Given the description of an element on the screen output the (x, y) to click on. 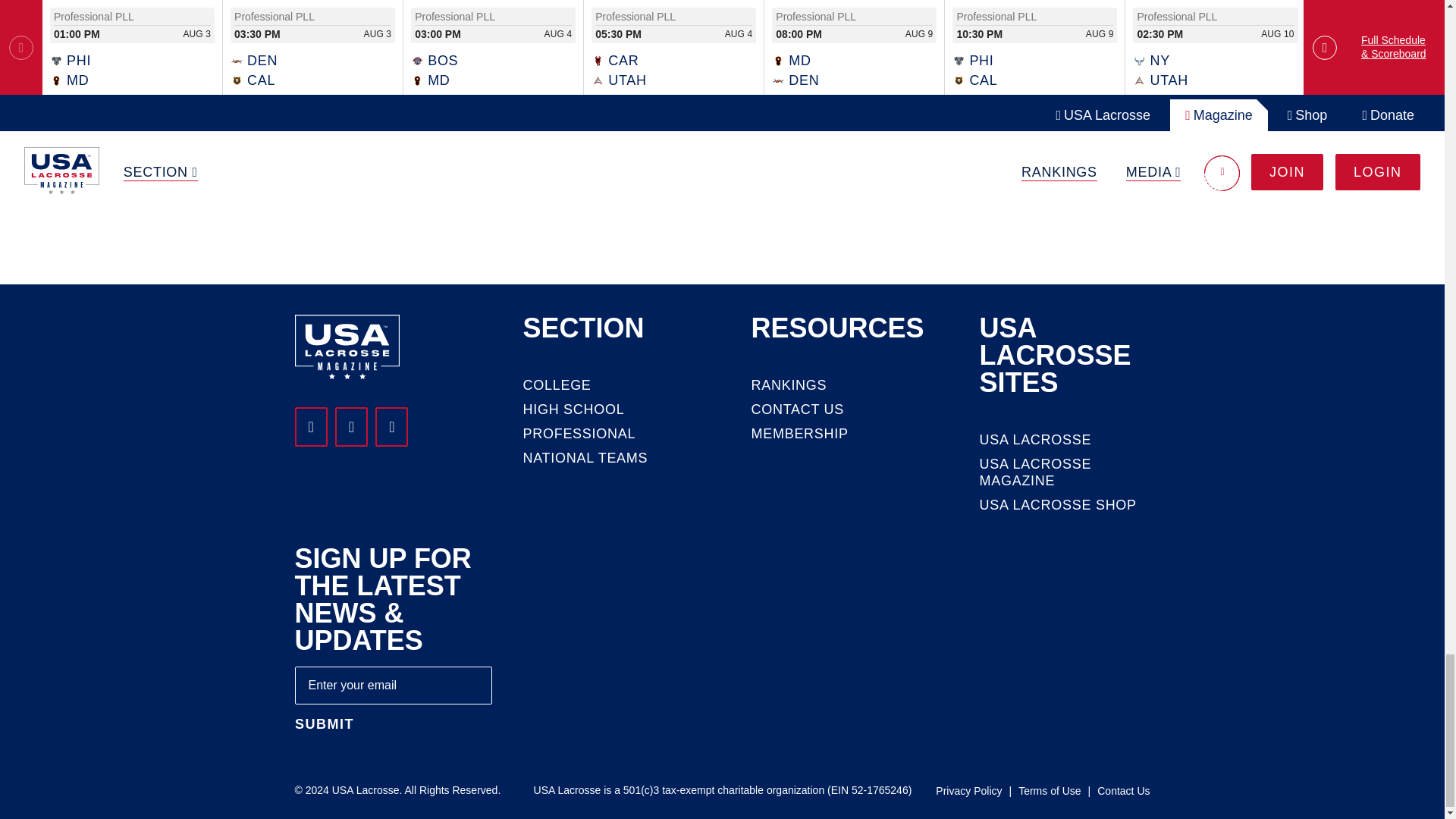
Submit (323, 724)
